Given the description of an element on the screen output the (x, y) to click on. 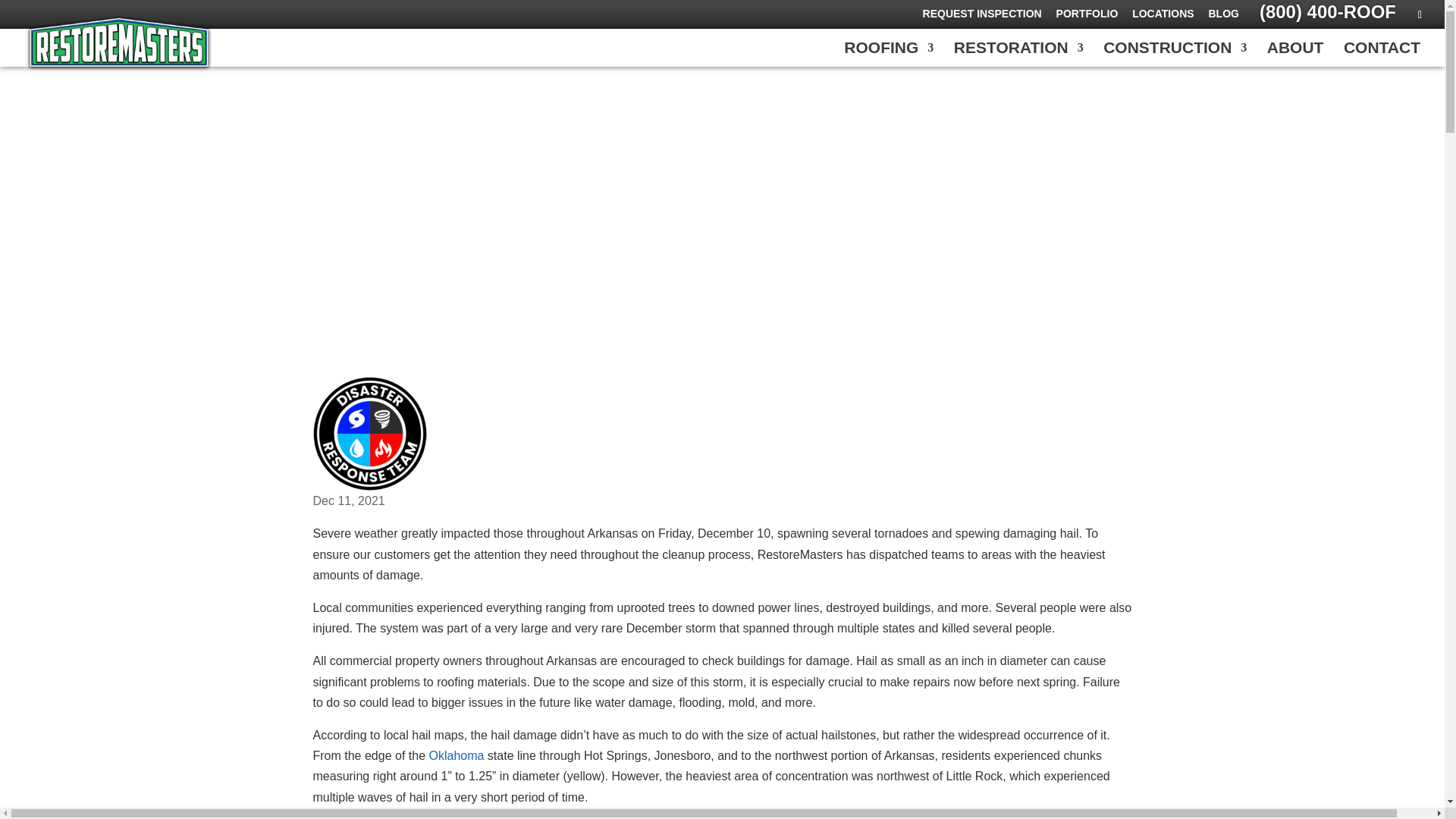
BLOG (1223, 16)
ROOFING (888, 54)
LOCATIONS (1162, 16)
PORTFOLIO (1087, 16)
REQUEST INSPECTION (982, 16)
Disaster Response Team (369, 433)
